Given the description of an element on the screen output the (x, y) to click on. 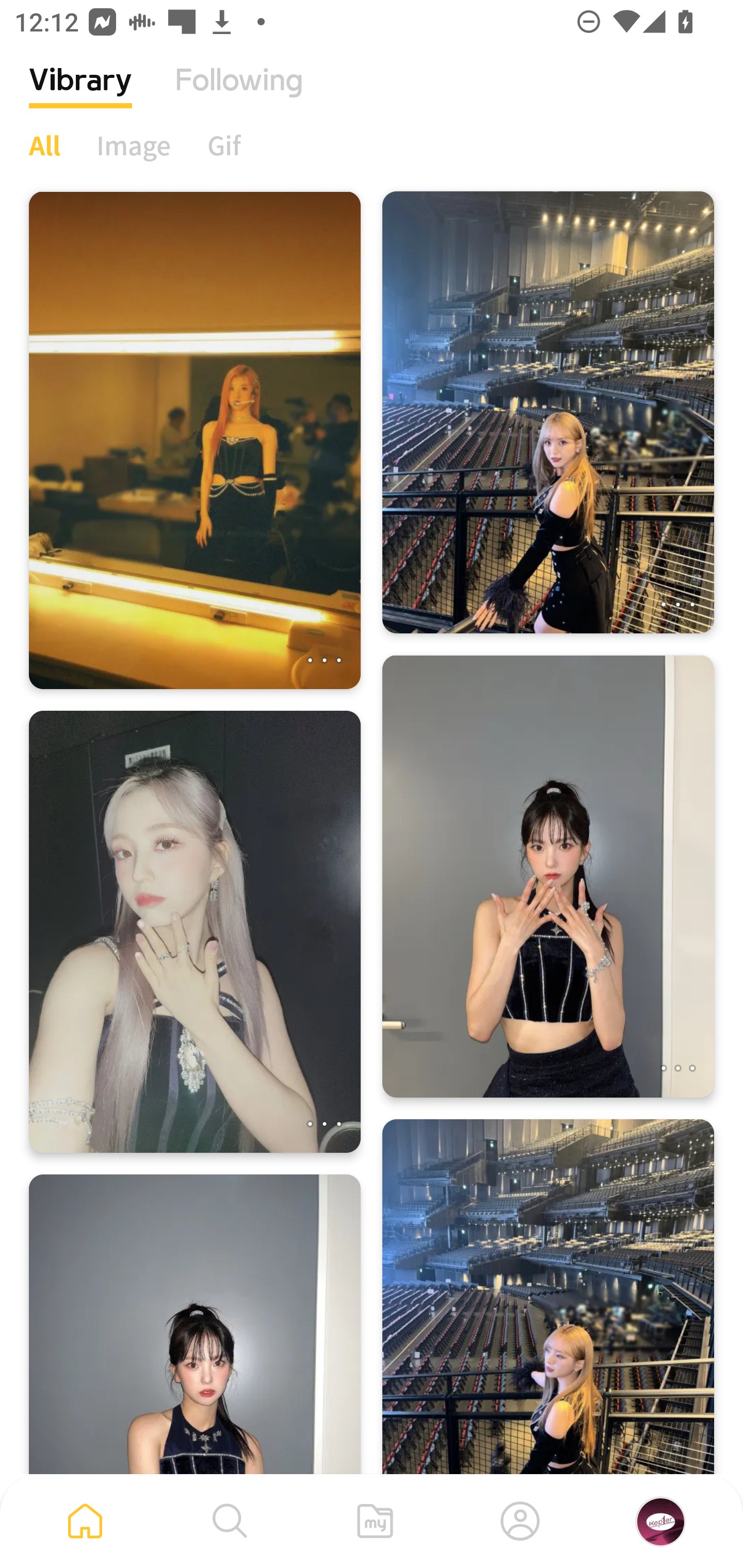
Vibrary (80, 95)
Following (239, 95)
All (44, 145)
Image (133, 145)
Gif (223, 145)
